Given the description of an element on the screen output the (x, y) to click on. 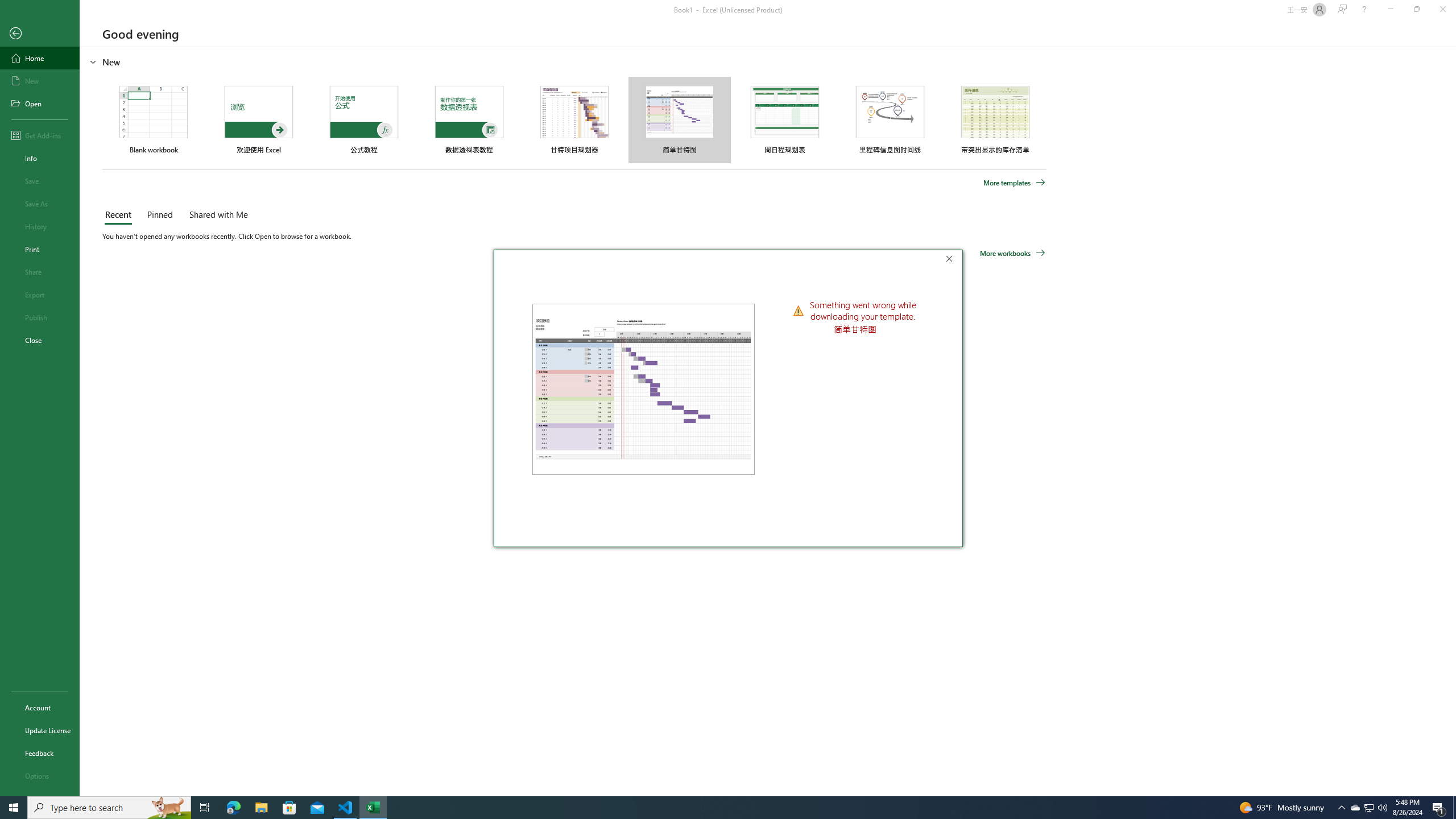
Share (40, 271)
User Promoted Notification Area (1368, 807)
Feedback (1368, 807)
More templates (40, 753)
Visual Studio Code - 1 running window (1014, 182)
Open (345, 807)
Pinned (40, 102)
New (159, 215)
Help (40, 80)
Export (1364, 9)
